Given the description of an element on the screen output the (x, y) to click on. 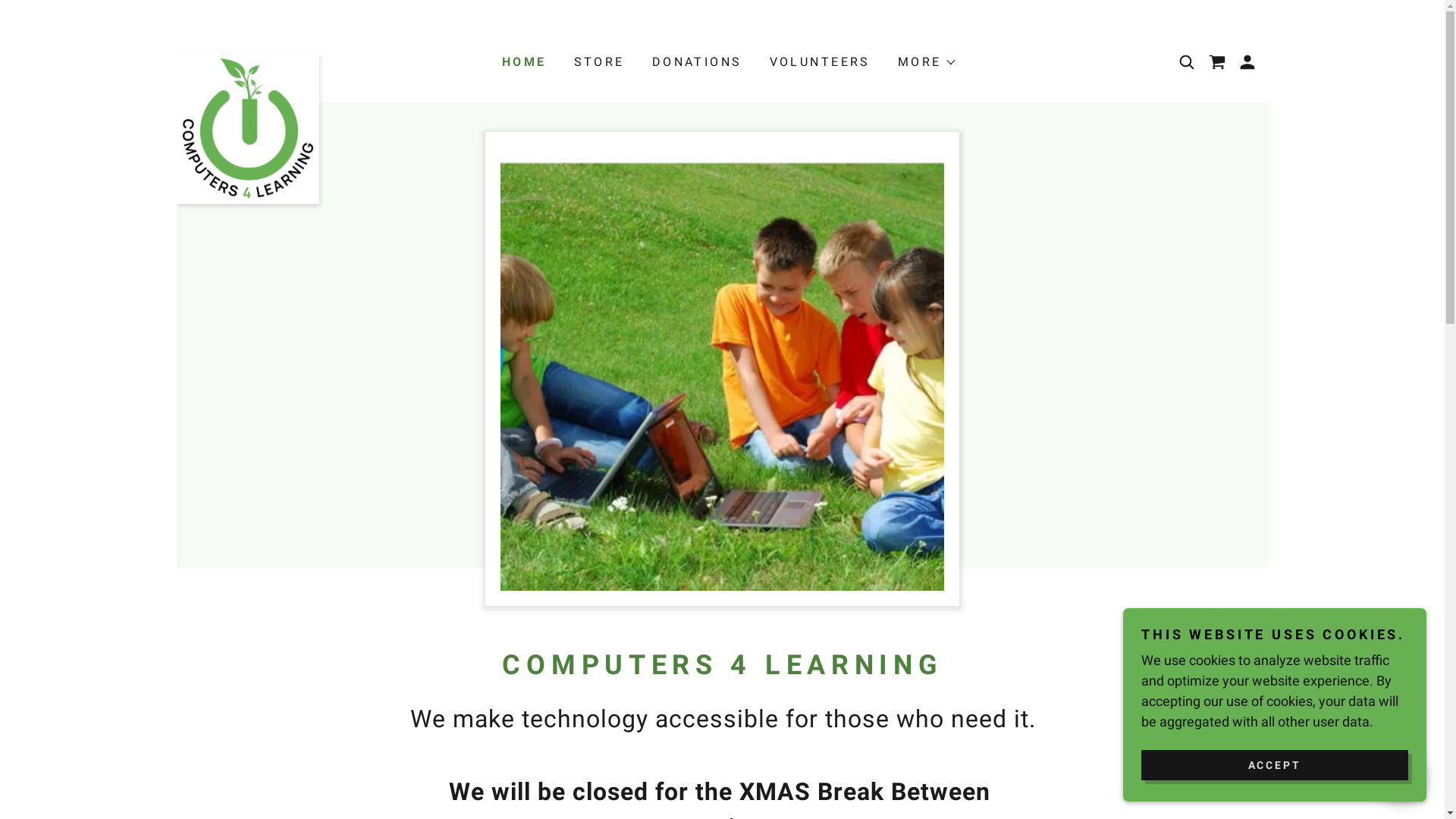
VOLUNTEERS Element type: text (818, 61)
MORE Element type: text (925, 62)
STORE Element type: text (597, 61)
DONATIONS Element type: text (695, 61)
ACCEPT Element type: text (1274, 764)
HOME Element type: text (522, 62)
